Given the description of an element on the screen output the (x, y) to click on. 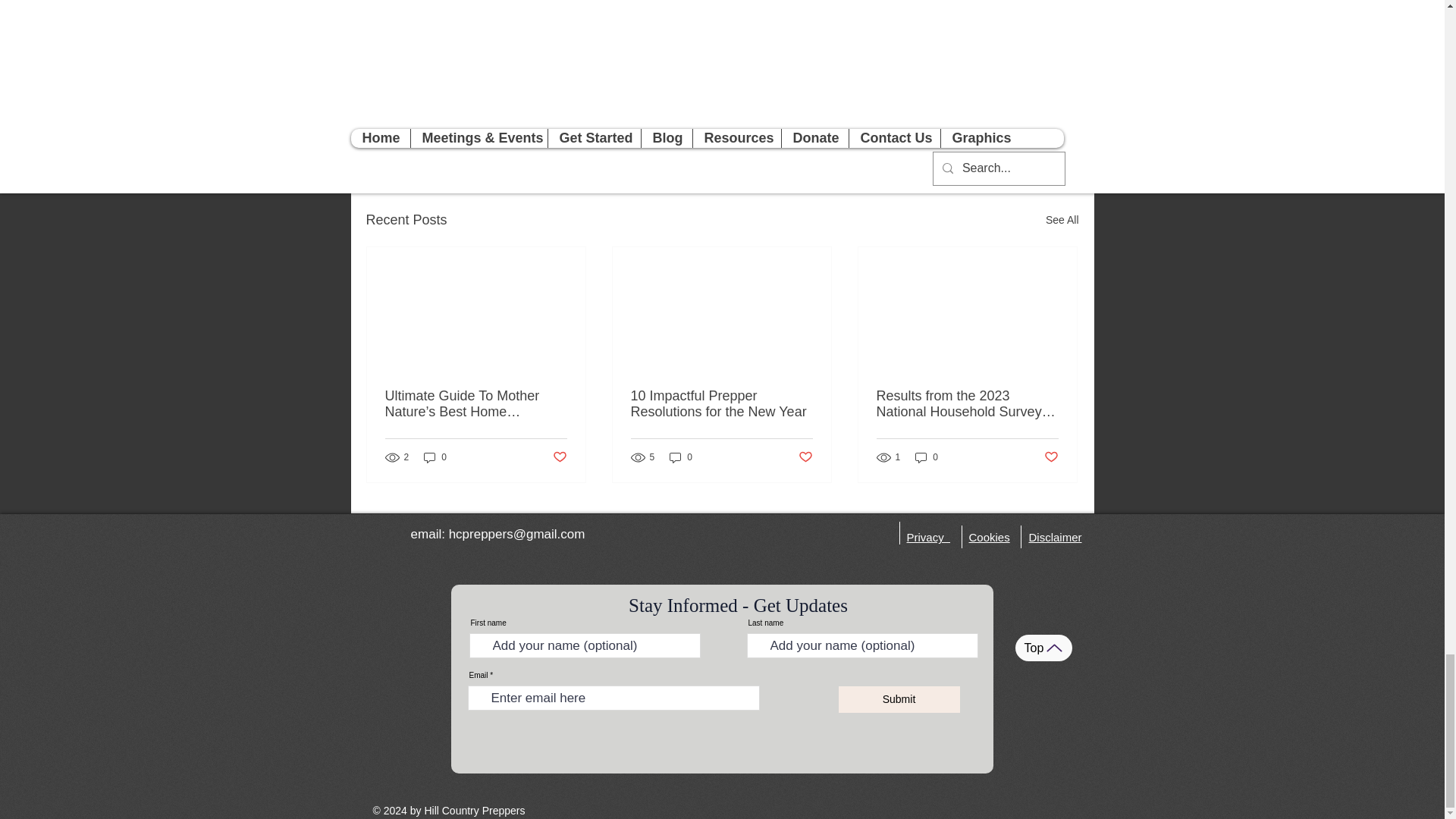
Post not marked as liked (804, 457)
0 (926, 457)
0 (435, 457)
Topics (987, 92)
Post not marked as liked (558, 457)
0 (681, 457)
10 Impactful Prepper Resolutions for the New Year (721, 404)
Post not marked as liked (995, 137)
Post not marked as liked (1050, 457)
